Given the description of an element on the screen output the (x, y) to click on. 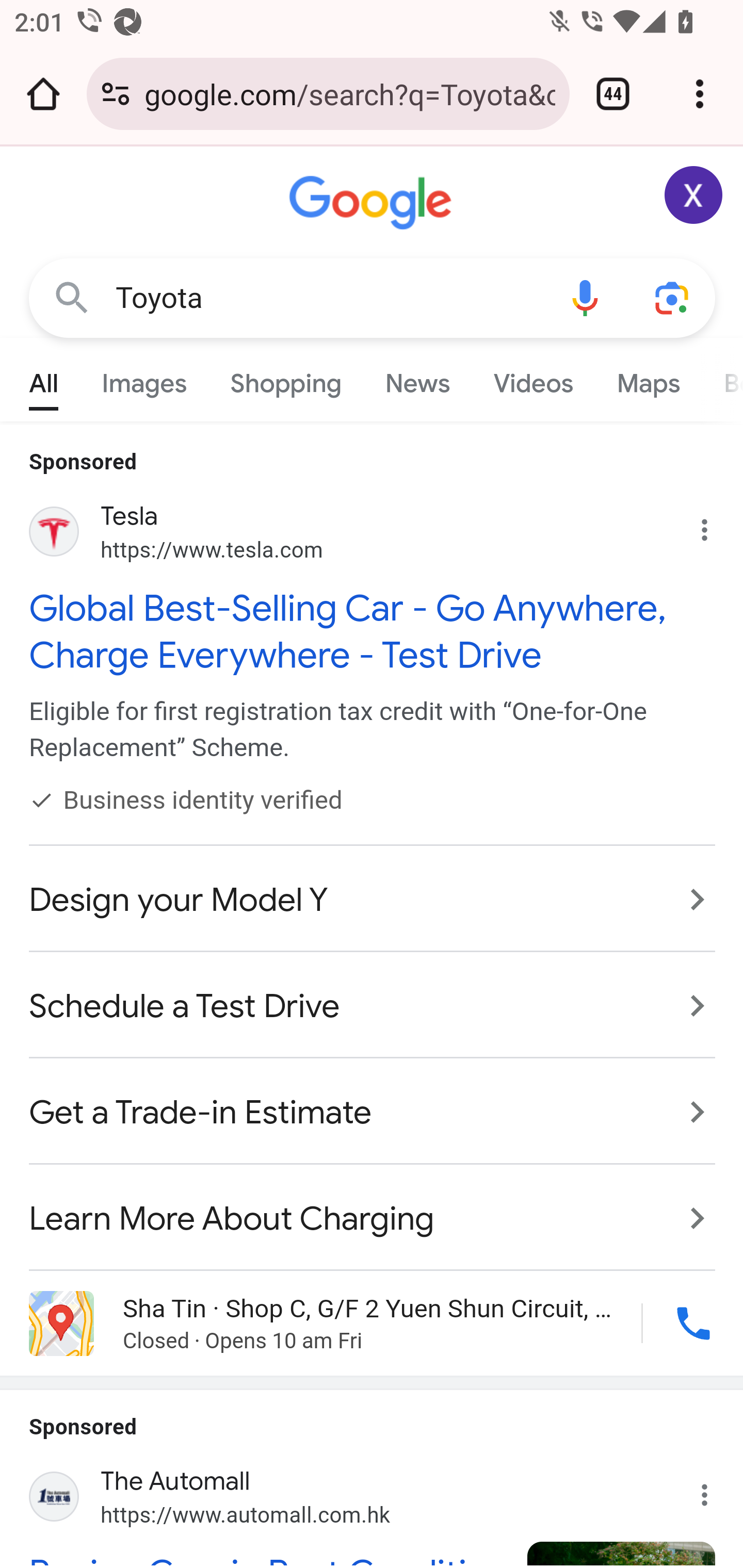
Open the home page (43, 93)
Connection is secure (115, 93)
Switch or close tabs (612, 93)
Customize and control Google Chrome (699, 93)
Google (372, 203)
Google Account: Xiaoran (zxrappiumtest@gmail.com) (694, 195)
Google Search (71, 296)
Search using your camera or photos (672, 296)
Toyota (328, 297)
Images (144, 378)
Shopping (285, 378)
News (417, 378)
Videos (533, 378)
Maps (647, 378)
Why this ad? (714, 525)
Design your Model Y (372, 899)
Schedule a Test Drive (372, 1006)
Get a Trade-in Estimate (372, 1112)
Learn More About Charging (372, 1208)
Why this ad? (714, 1488)
